Given the description of an element on the screen output the (x, y) to click on. 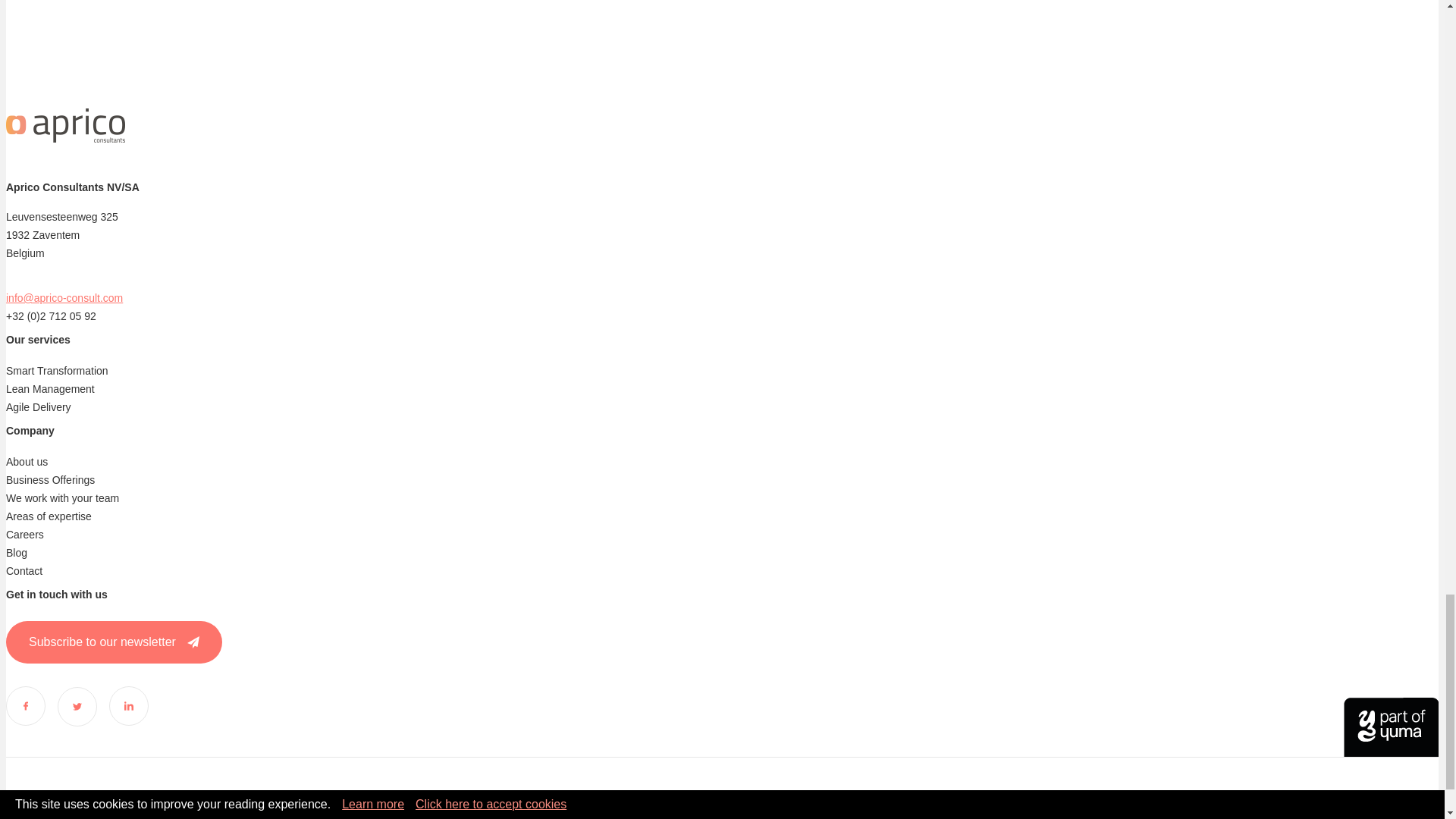
Agile Delivery (38, 407)
Smart Transformation (56, 370)
Lean Management (49, 388)
